Given the description of an element on the screen output the (x, y) to click on. 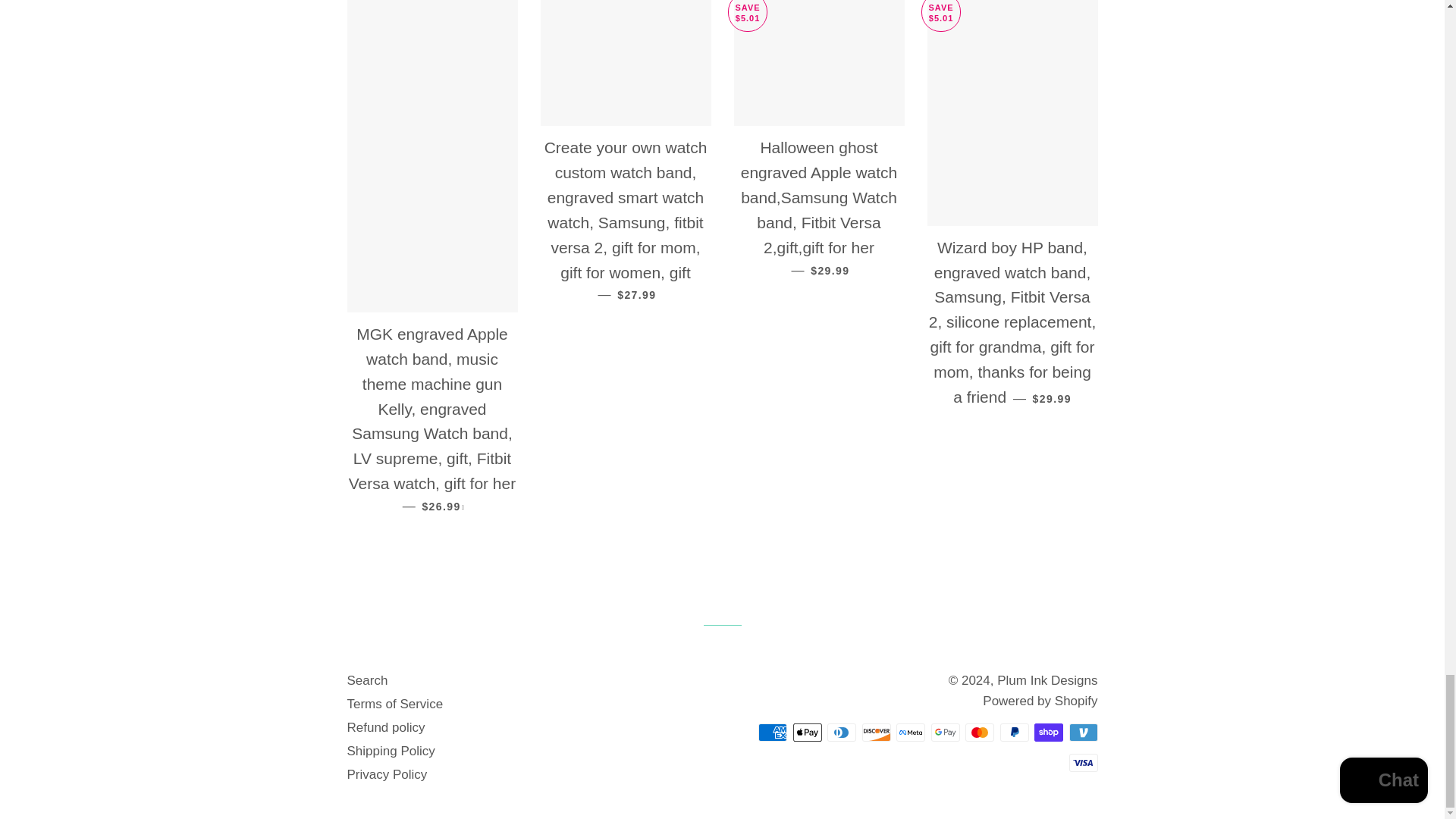
Discover (875, 732)
Mastercard (979, 732)
Search (367, 680)
Apple Pay (807, 732)
Refund policy (386, 727)
Google Pay (945, 732)
Shop Pay (1047, 732)
Terms of Service (395, 703)
Visa (1082, 762)
Venmo (1082, 732)
